Given the description of an element on the screen output the (x, y) to click on. 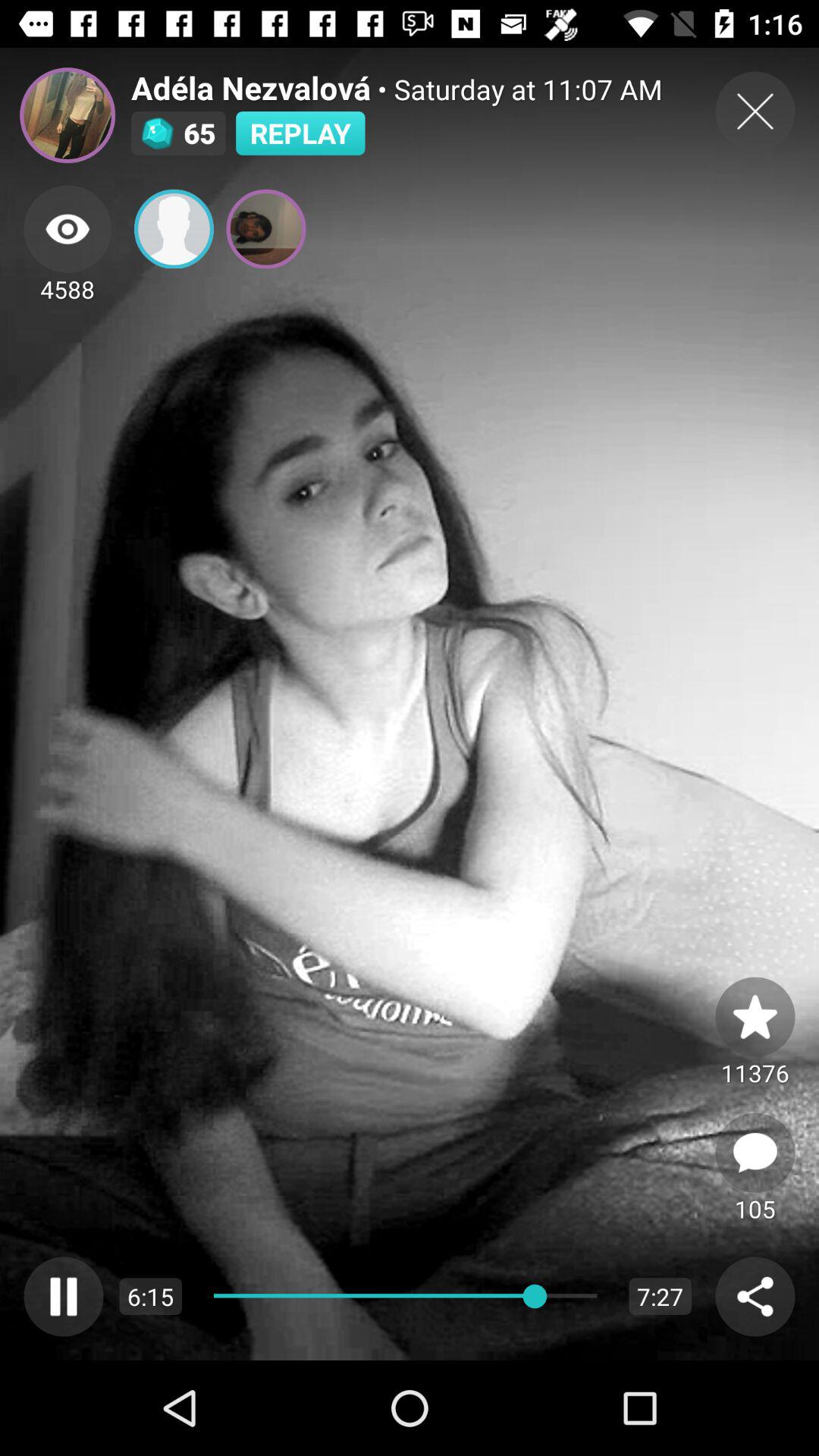
leave comment (755, 1152)
